Given the description of an element on the screen output the (x, y) to click on. 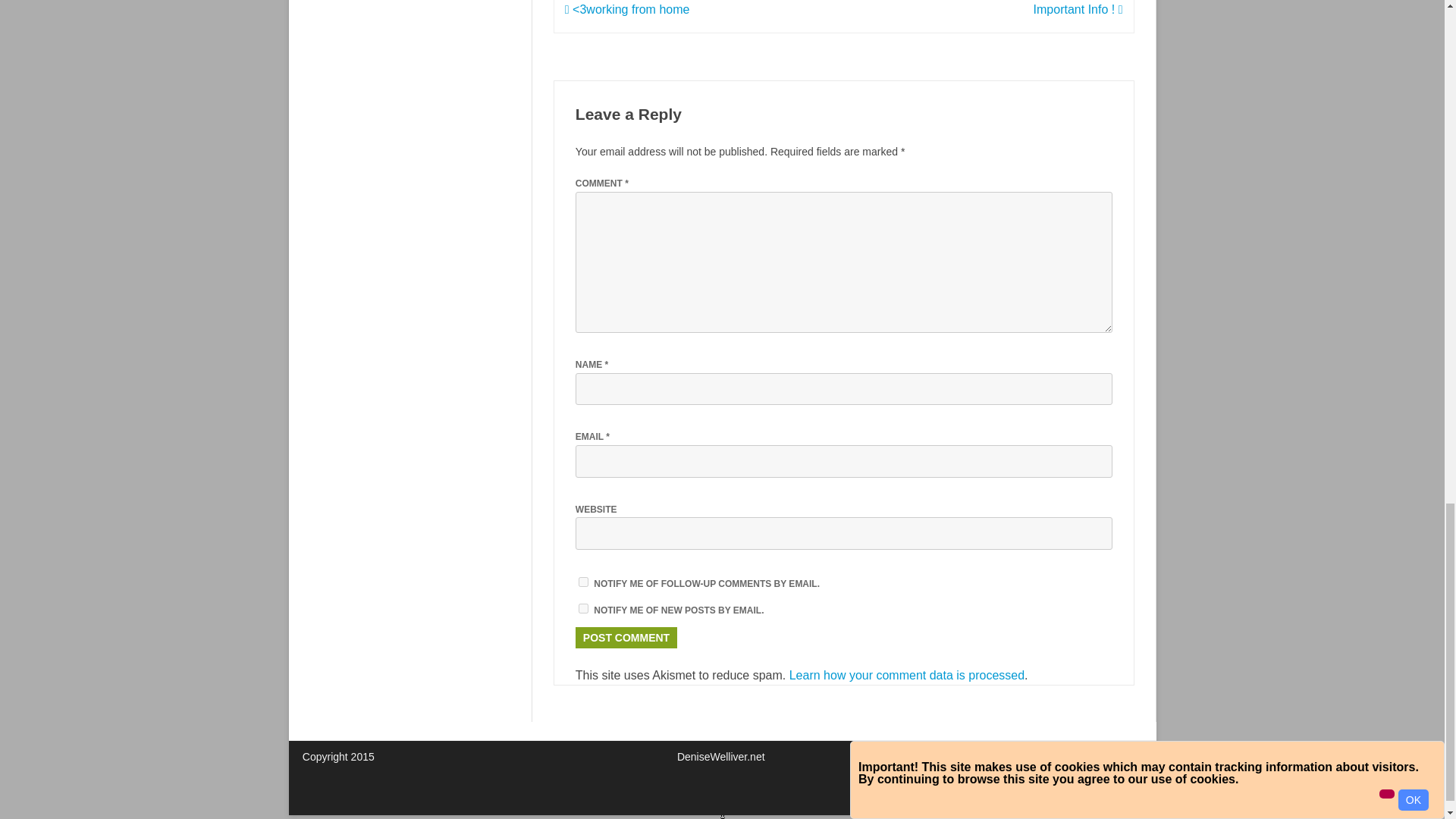
subscribe (583, 582)
subscribe (583, 608)
Post Comment (626, 637)
